Given the description of an element on the screen output the (x, y) to click on. 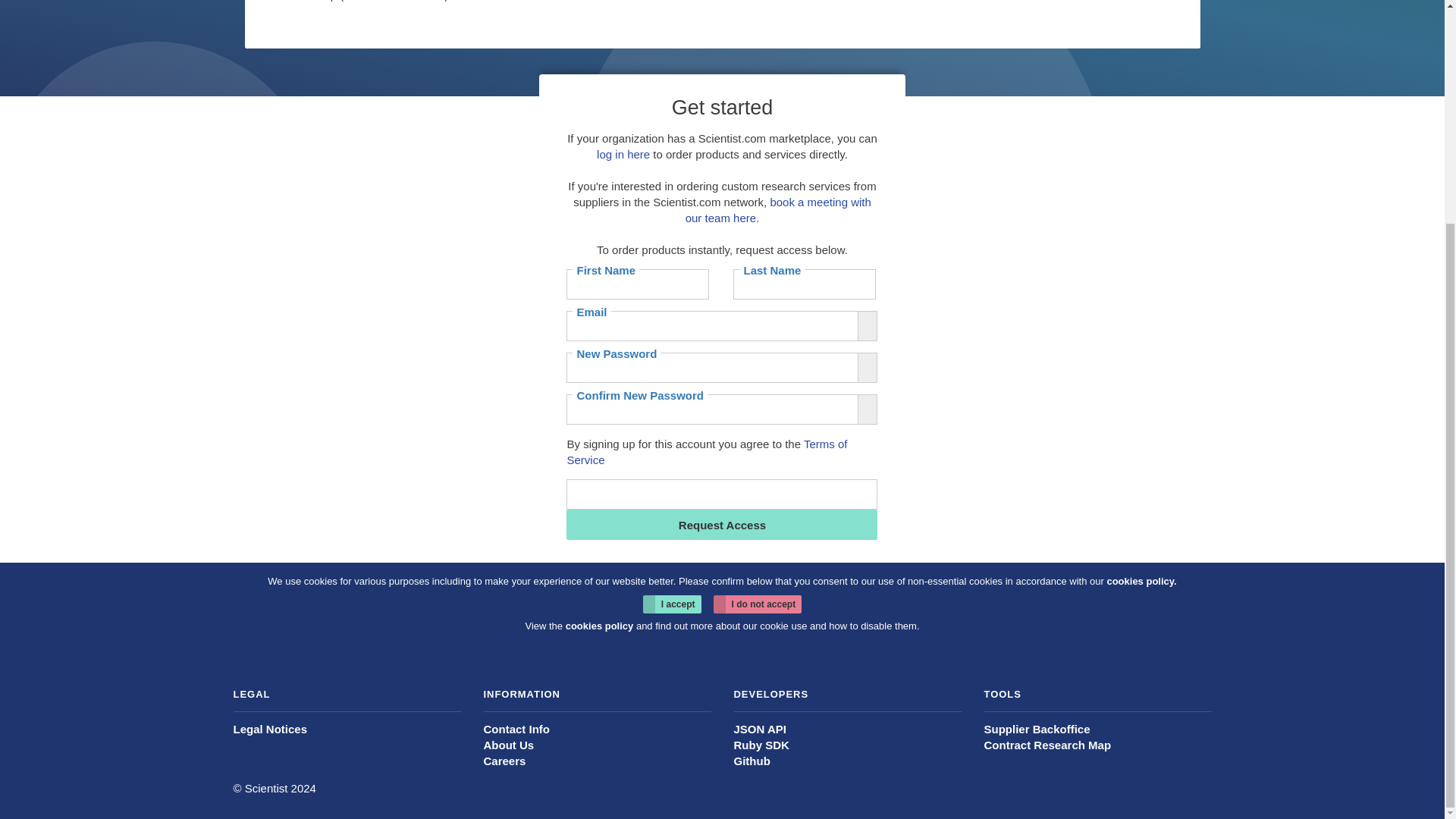
JSON API (759, 728)
I accept (672, 604)
Github (751, 760)
Contact Info (516, 728)
About Us (508, 744)
book a meeting with our team here. (777, 209)
Ruby SDK (761, 744)
Supplier Backoffice (1037, 728)
Contract Research Map (1048, 744)
log in here (622, 154)
